Given the description of an element on the screen output the (x, y) to click on. 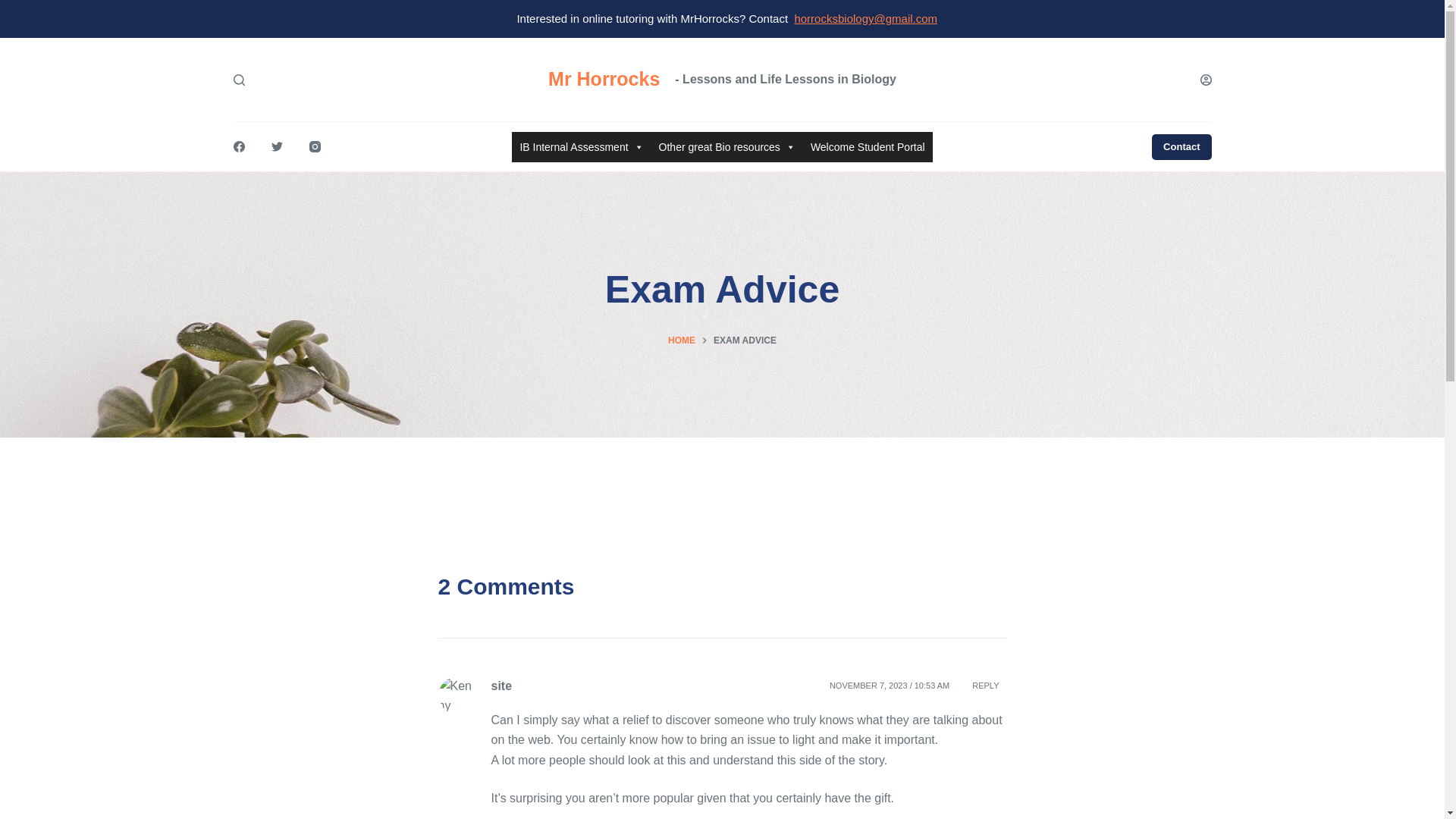
IB Internal Assessment (581, 146)
Exam Advice (722, 289)
Other great Bio resources (726, 146)
Skip to content (15, 7)
Mr Horrocks (603, 78)
